Given the description of an element on the screen output the (x, y) to click on. 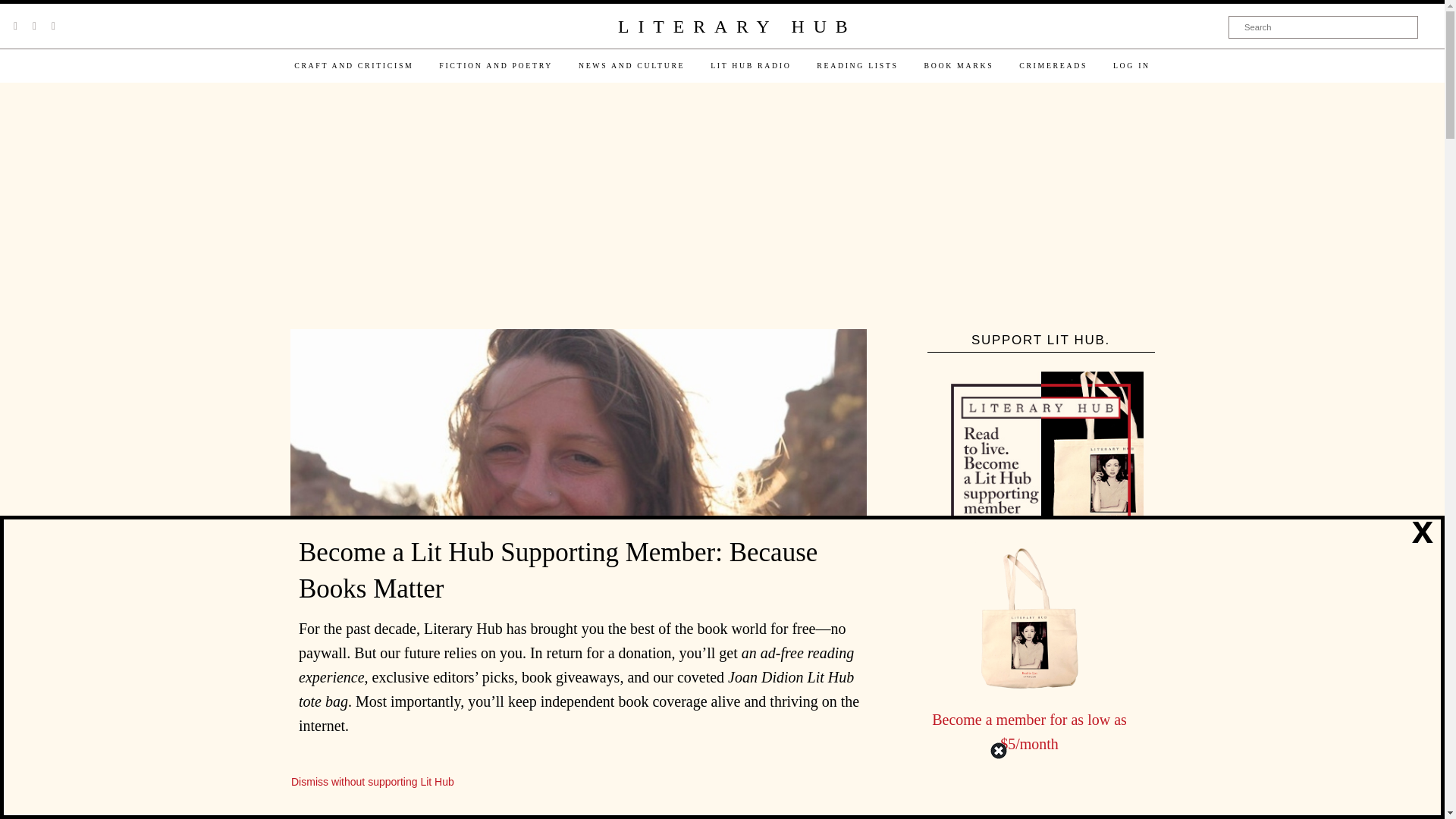
Support Lit Hub. (1040, 473)
FICTION AND POETRY (496, 65)
LITERARY HUB (736, 26)
3rd party ad content (721, 207)
CRAFT AND CRITICISM (353, 65)
NEWS AND CULTURE (631, 65)
Search (1323, 26)
